Given the description of an element on the screen output the (x, y) to click on. 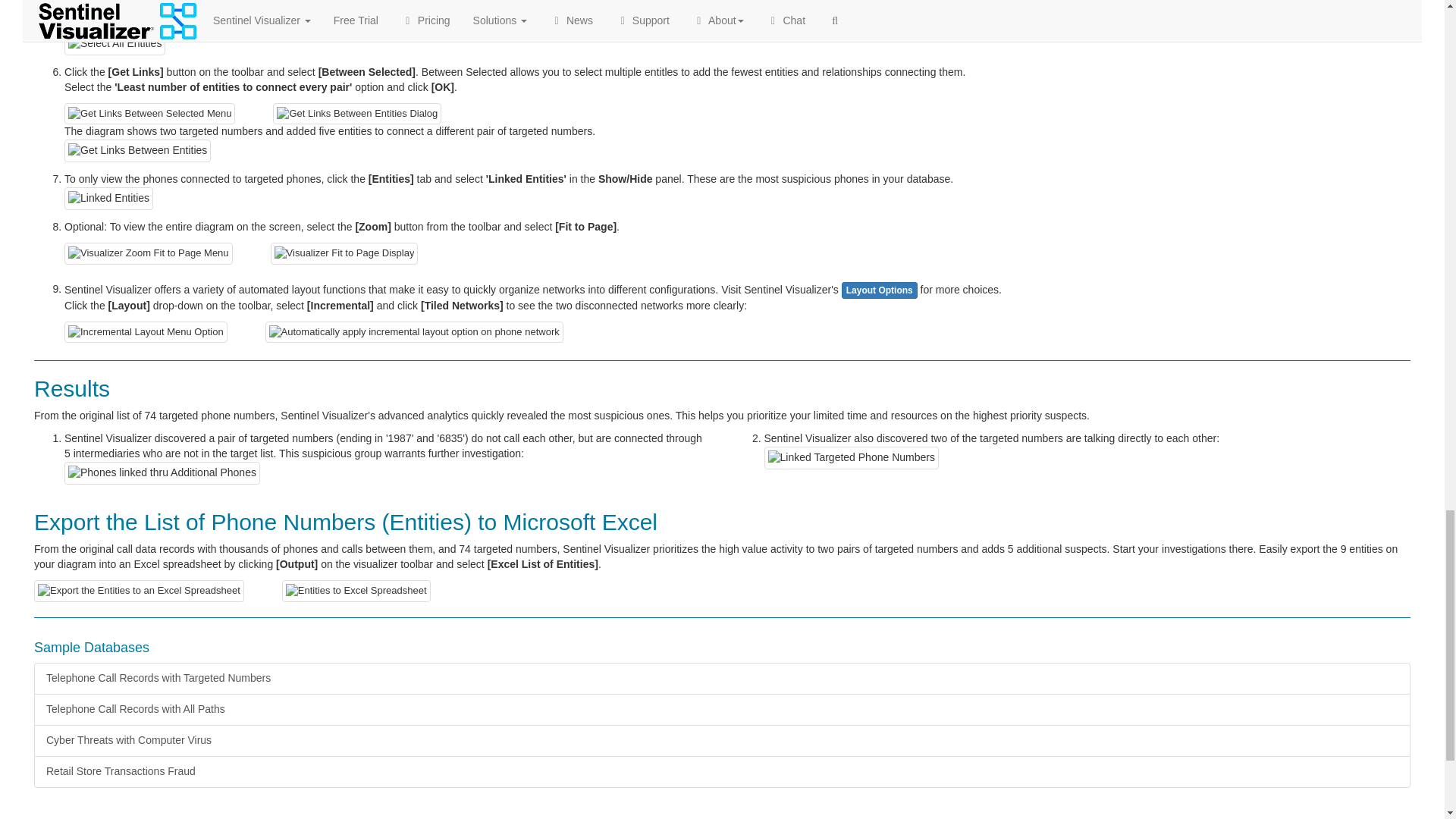
Visualizer Diagram (118, 3)
Get Links Between Entities (137, 150)
Export the Entities to an Excel Spreadsheet (138, 590)
Visualizer Zoom Fit to Page Menu (148, 253)
Incremental Layout Menu Option (145, 332)
Get Links Between Selected Menu (149, 114)
Phones linked thru Additional Phones (162, 472)
Select All Entities (114, 43)
Linked Entities (108, 198)
Entities to Excel Spreadsheet (356, 590)
Get Links Between Entities Dialog (357, 114)
Visualizer Fit to Page Display (344, 253)
Linked Targeted Phone Numbers (851, 457)
